Given the description of an element on the screen output the (x, y) to click on. 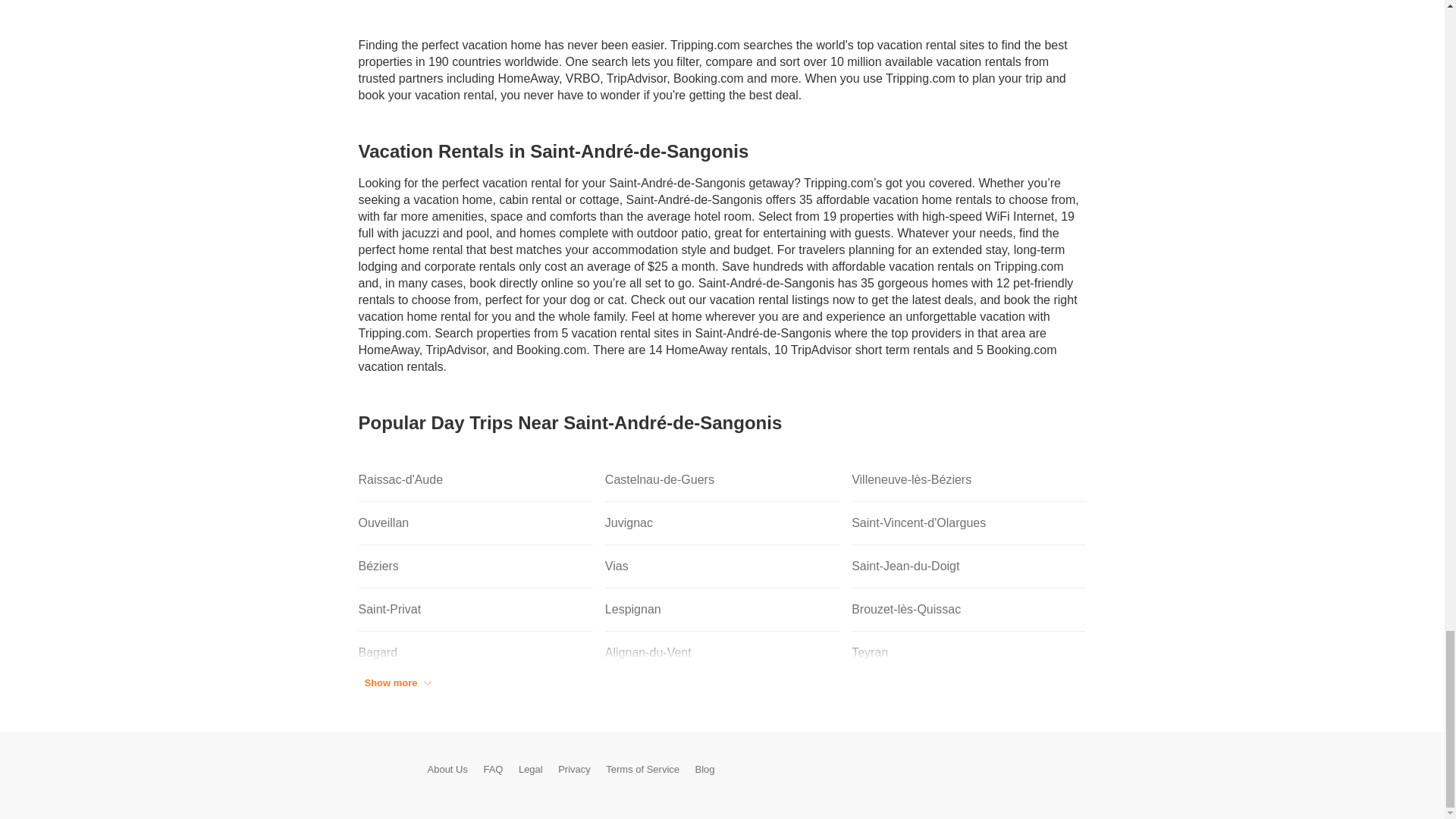
Saint-Jean-du-Doigt (968, 566)
Lespignan (722, 609)
Vias (722, 566)
Juvignac (722, 523)
Codognan (475, 696)
Juvignac (722, 523)
Raissac-d'Aude (475, 480)
Saint-Privat (475, 609)
Teyran (968, 652)
Saint-Vincent-d'Olargues (968, 523)
